Given the description of an element on the screen output the (x, y) to click on. 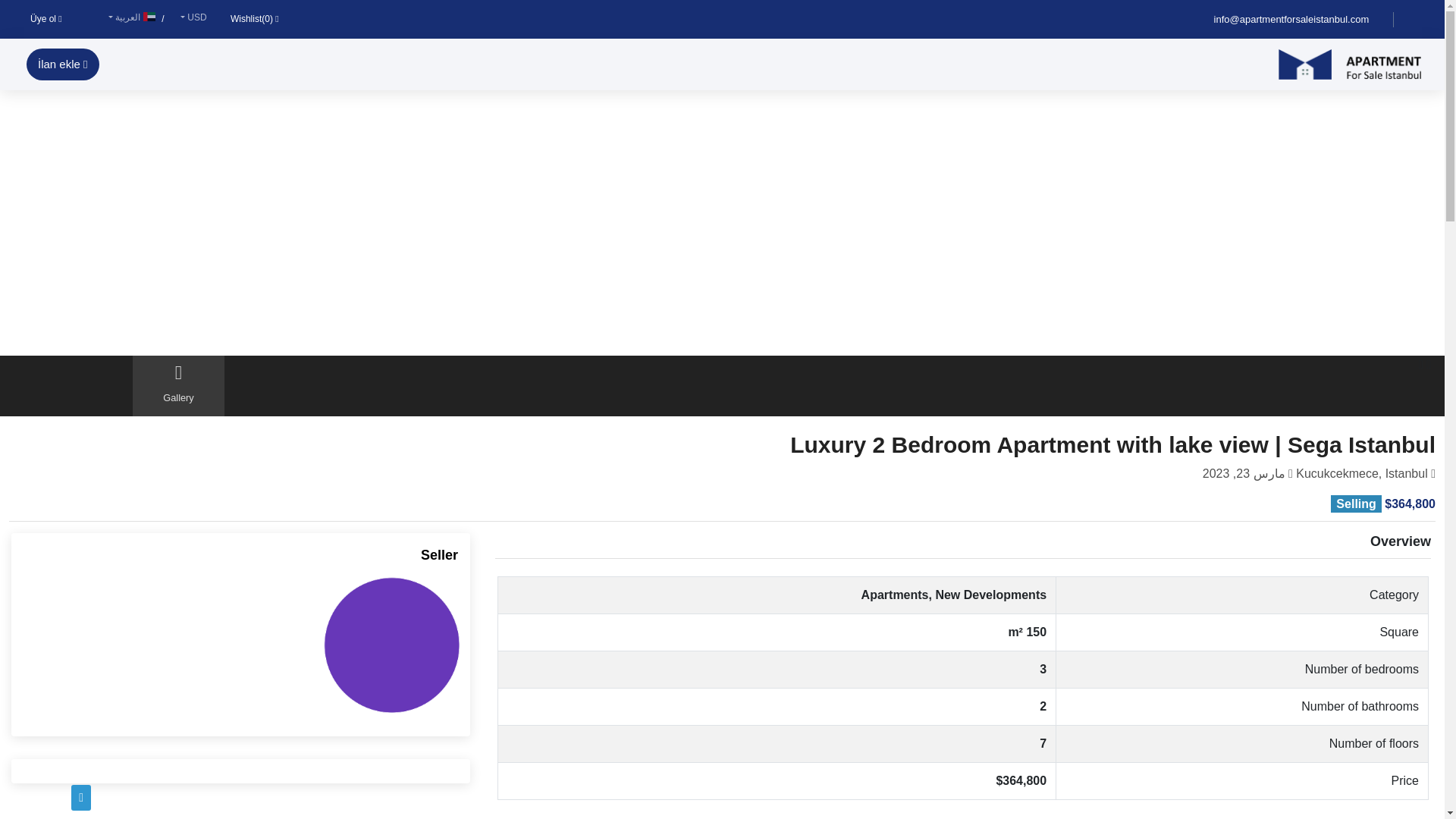
USD (191, 17)
